Given the description of an element on the screen output the (x, y) to click on. 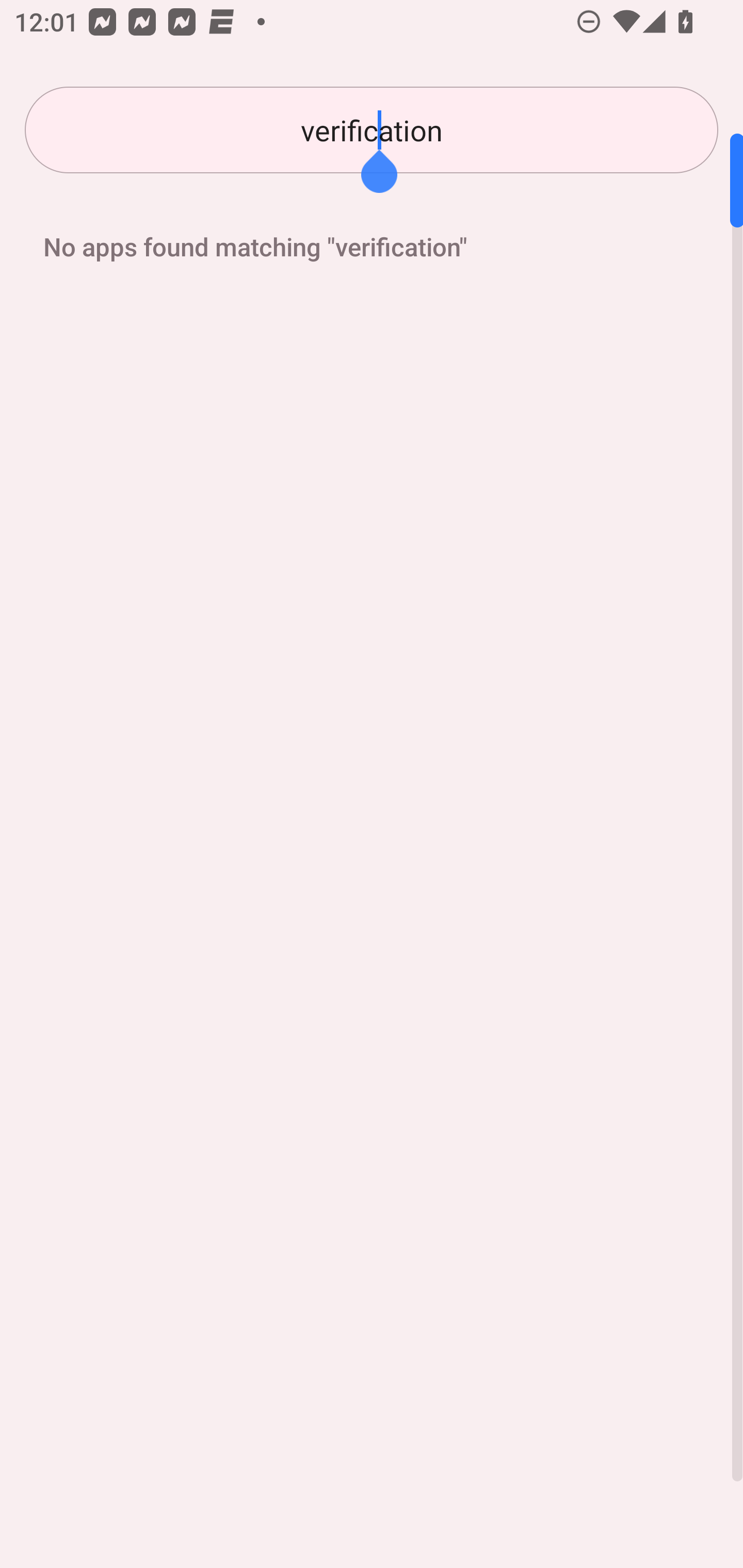
verification (371, 130)
